Given the description of an element on the screen output the (x, y) to click on. 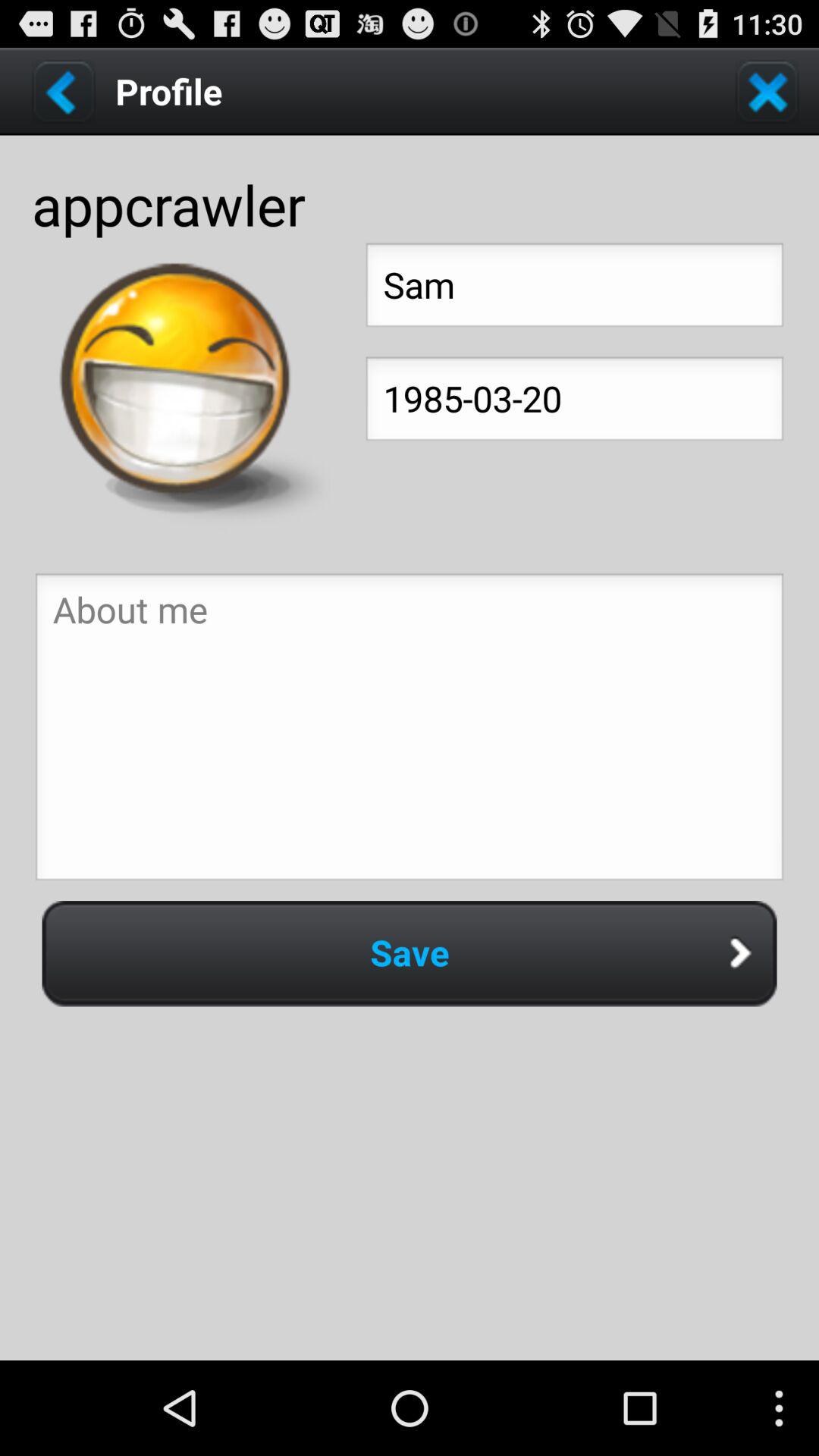
open field for about me (409, 731)
